Given the description of an element on the screen output the (x, y) to click on. 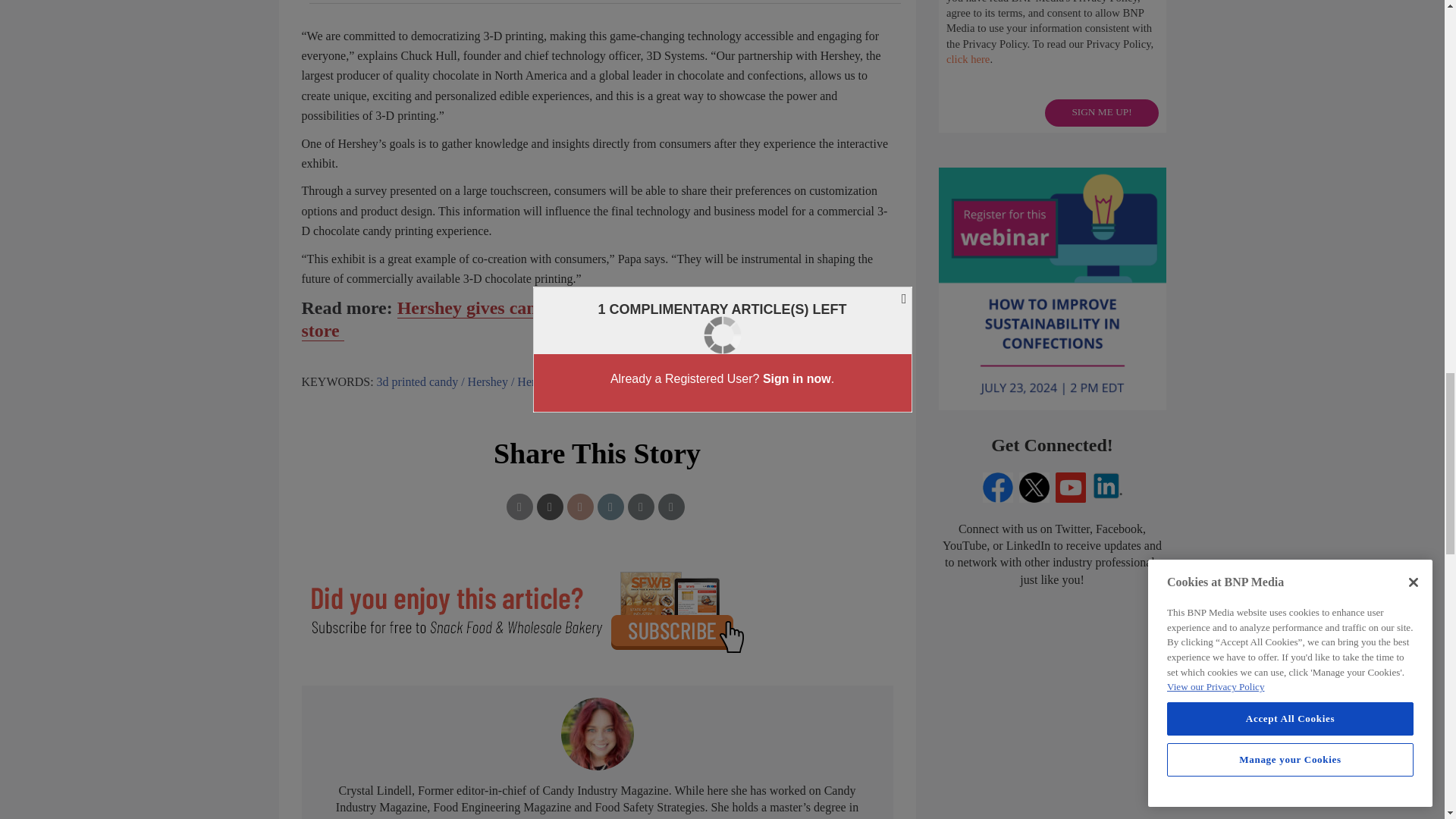
Interaction questions (1052, 66)
